Given the description of an element on the screen output the (x, y) to click on. 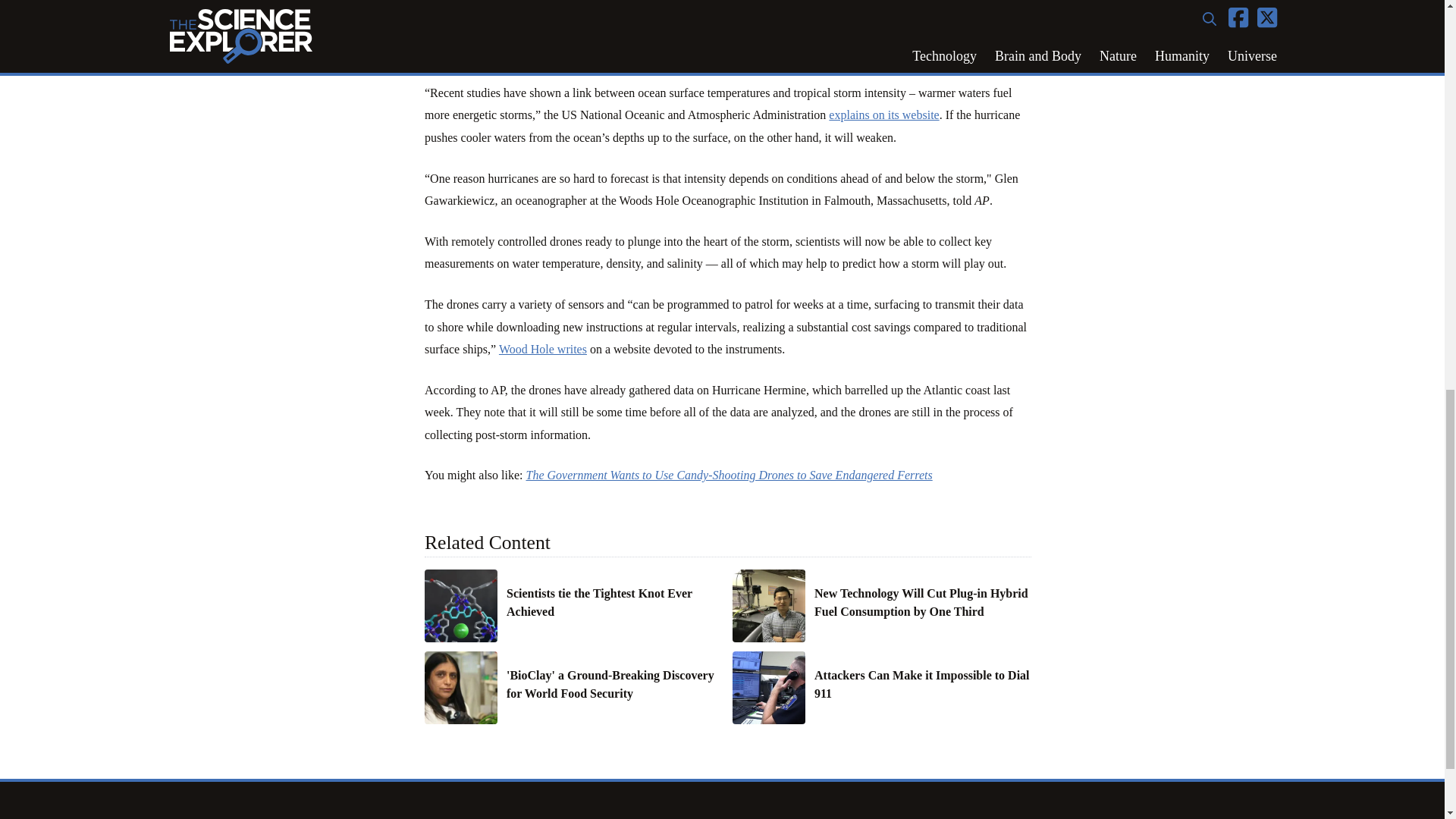
explains on its website (883, 114)
WHOI Underwater Glider Operations (542, 349)
Wood Hole writes (542, 349)
